Given the description of an element on the screen output the (x, y) to click on. 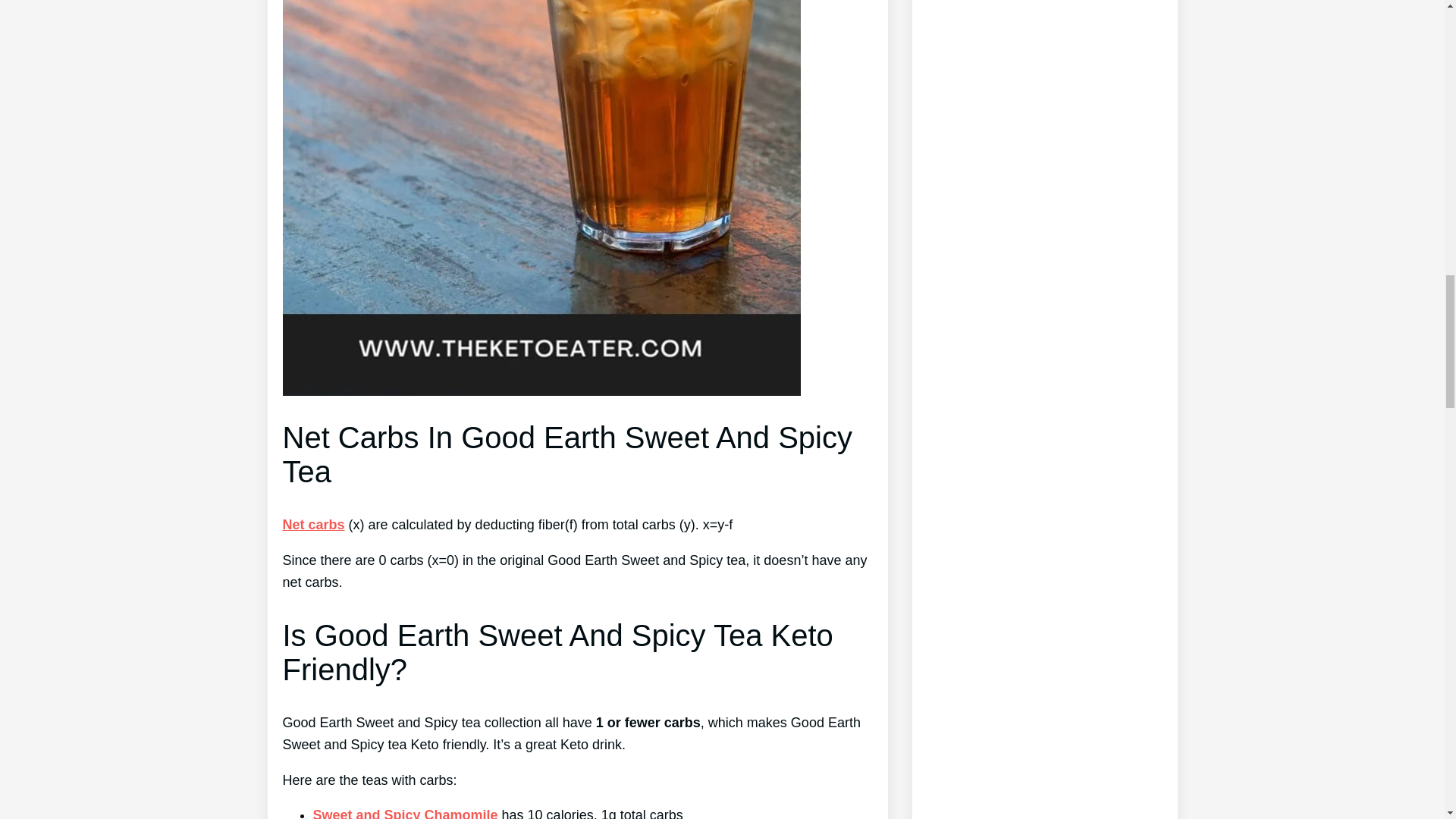
Sweet and Spicy Chamomile (405, 813)
Net carbs (312, 524)
